Given the description of an element on the screen output the (x, y) to click on. 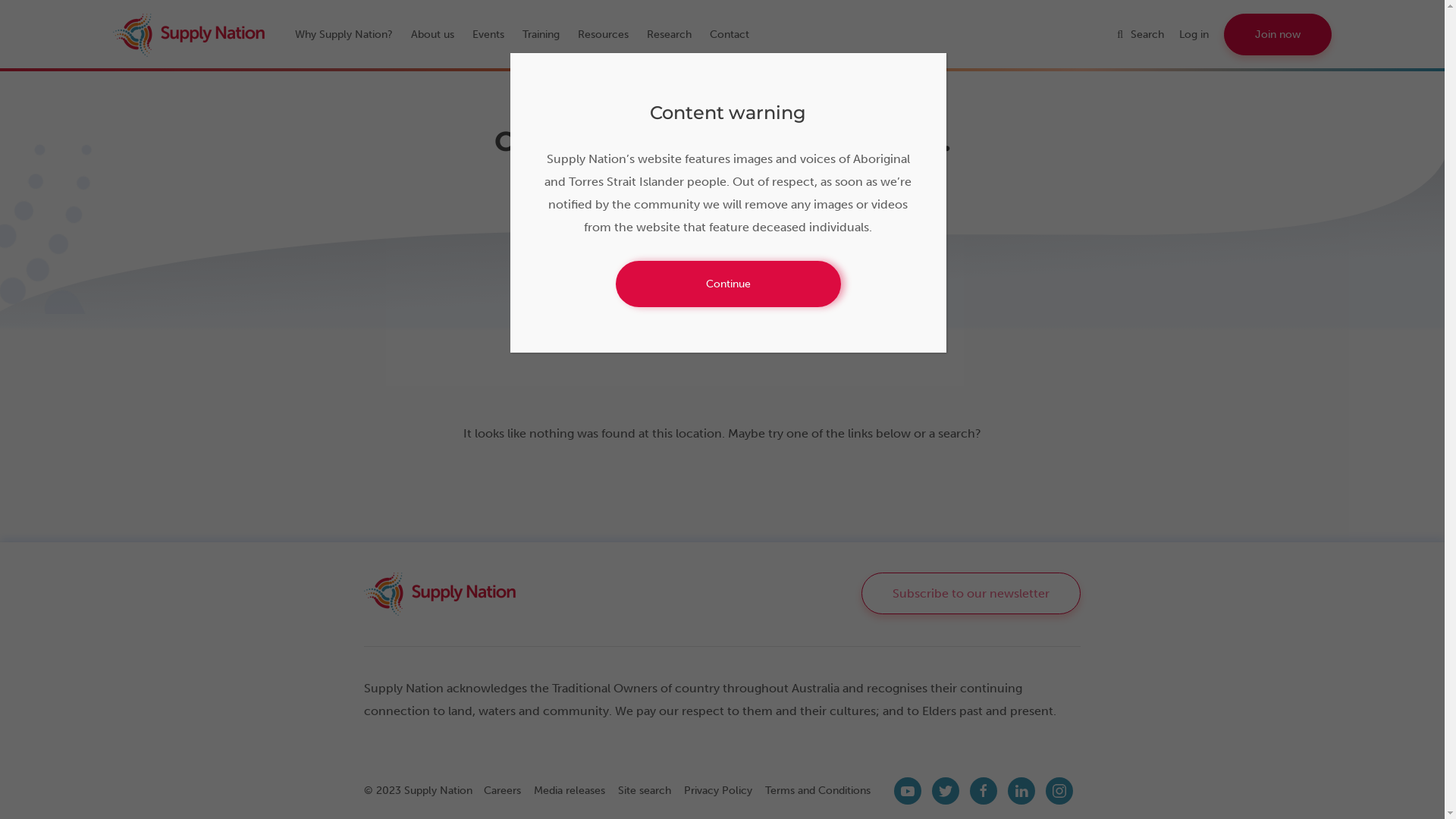
About us Element type: text (440, 33)
Log in Element type: text (1201, 33)
Why Supply Nation? Element type: text (350, 33)
Research Element type: text (676, 33)
Contact Element type: text (736, 33)
Supply Nation on Facebook Element type: hover (983, 790)
Supply Nation on Instagram Element type: hover (1059, 790)
Supply Nation on YouTube Element type: hover (907, 790)
Continue Element type: text (727, 283)
Subscribe to our newsletter Element type: text (970, 593)
Resources Element type: text (610, 33)
Training Element type: text (548, 33)
Supply Nation on Twitter Element type: hover (945, 790)
Supply Nation on LinkedIn Element type: hover (1021, 790)
Search Element type: text (1148, 33)
Join now Element type: text (1277, 34)
Events Element type: text (495, 33)
